Given the description of an element on the screen output the (x, y) to click on. 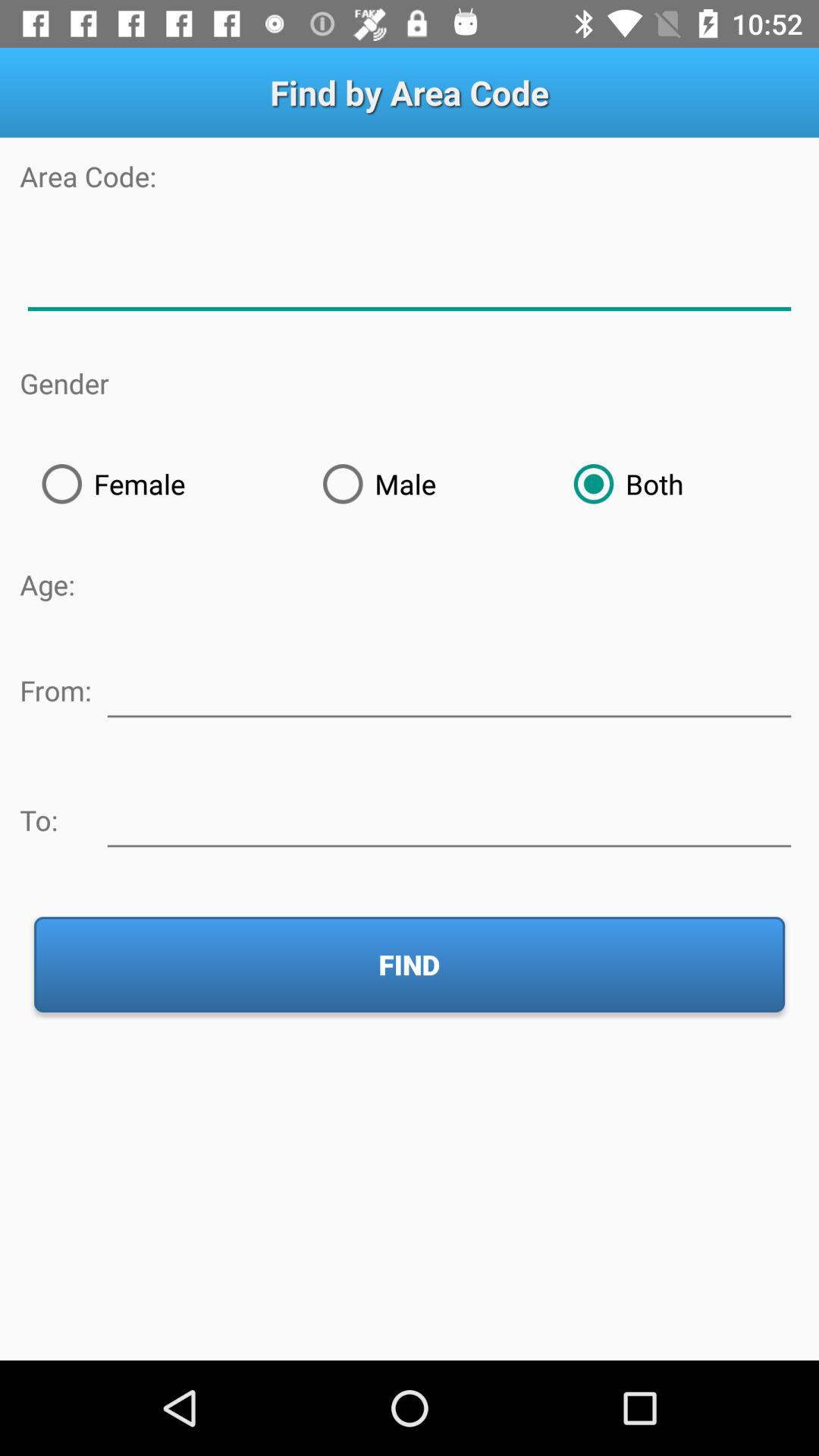
press radio button to the left of the male item (160, 483)
